Given the description of an element on the screen output the (x, y) to click on. 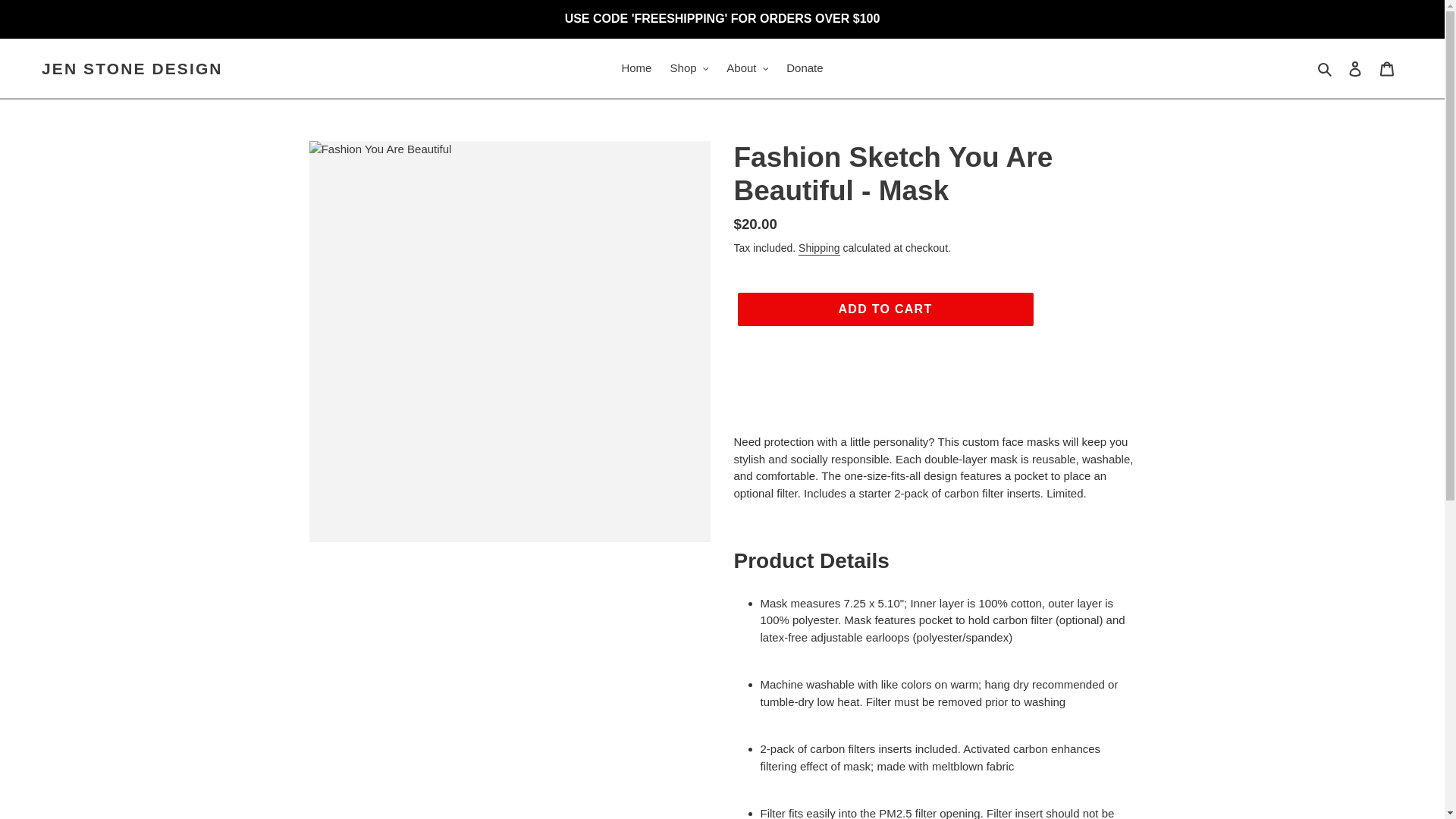
About (747, 68)
Log in (1355, 68)
Shop (689, 68)
JEN STONE DESIGN (132, 67)
Search (1326, 67)
Cart (1387, 68)
Home (635, 68)
Donate (803, 68)
